Given the description of an element on the screen output the (x, y) to click on. 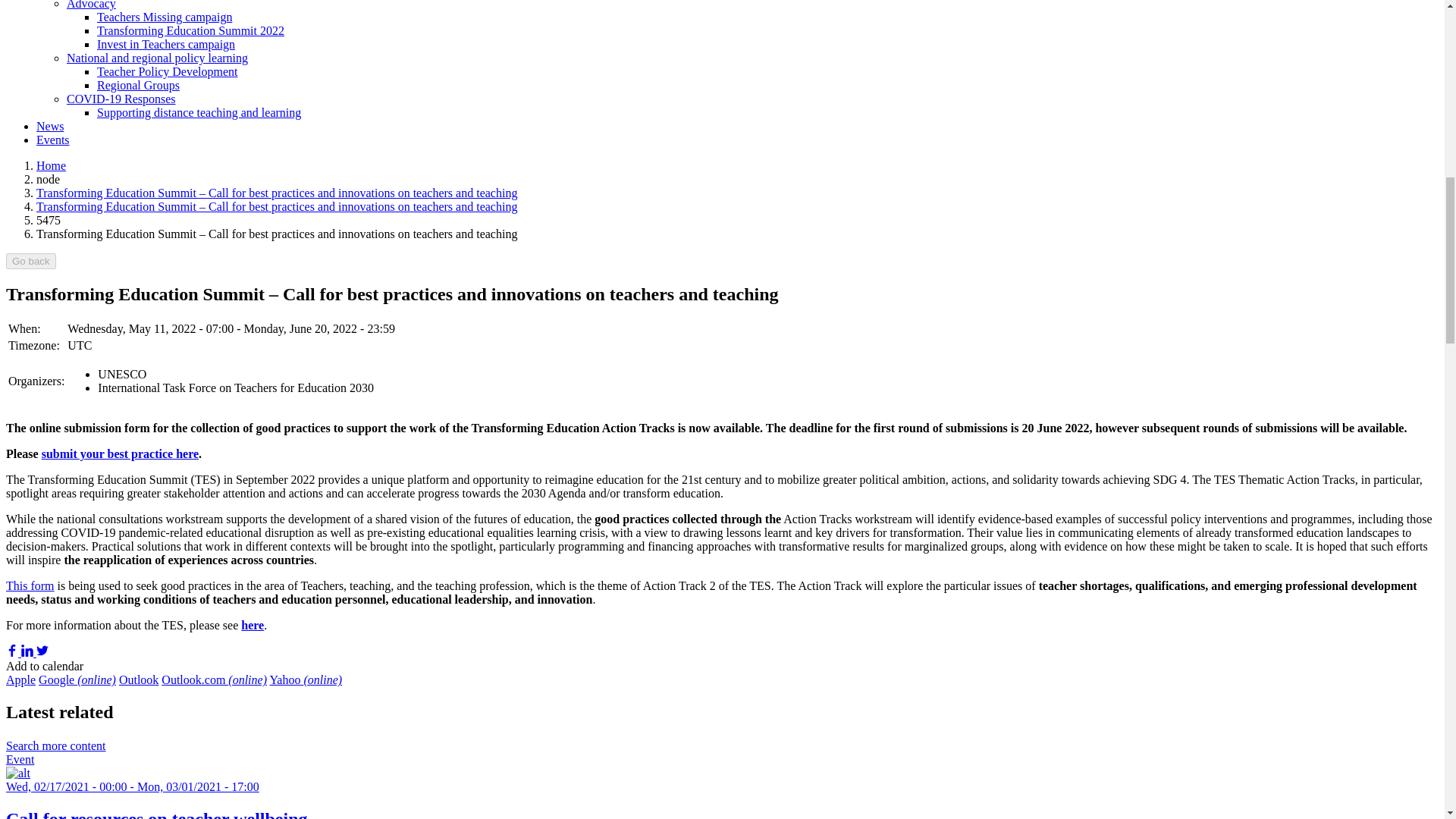
Add to Google Calendar (77, 679)
Add to Yahoo! Calendar (305, 679)
Add to Outlook.com (213, 679)
